Given the description of an element on the screen output the (x, y) to click on. 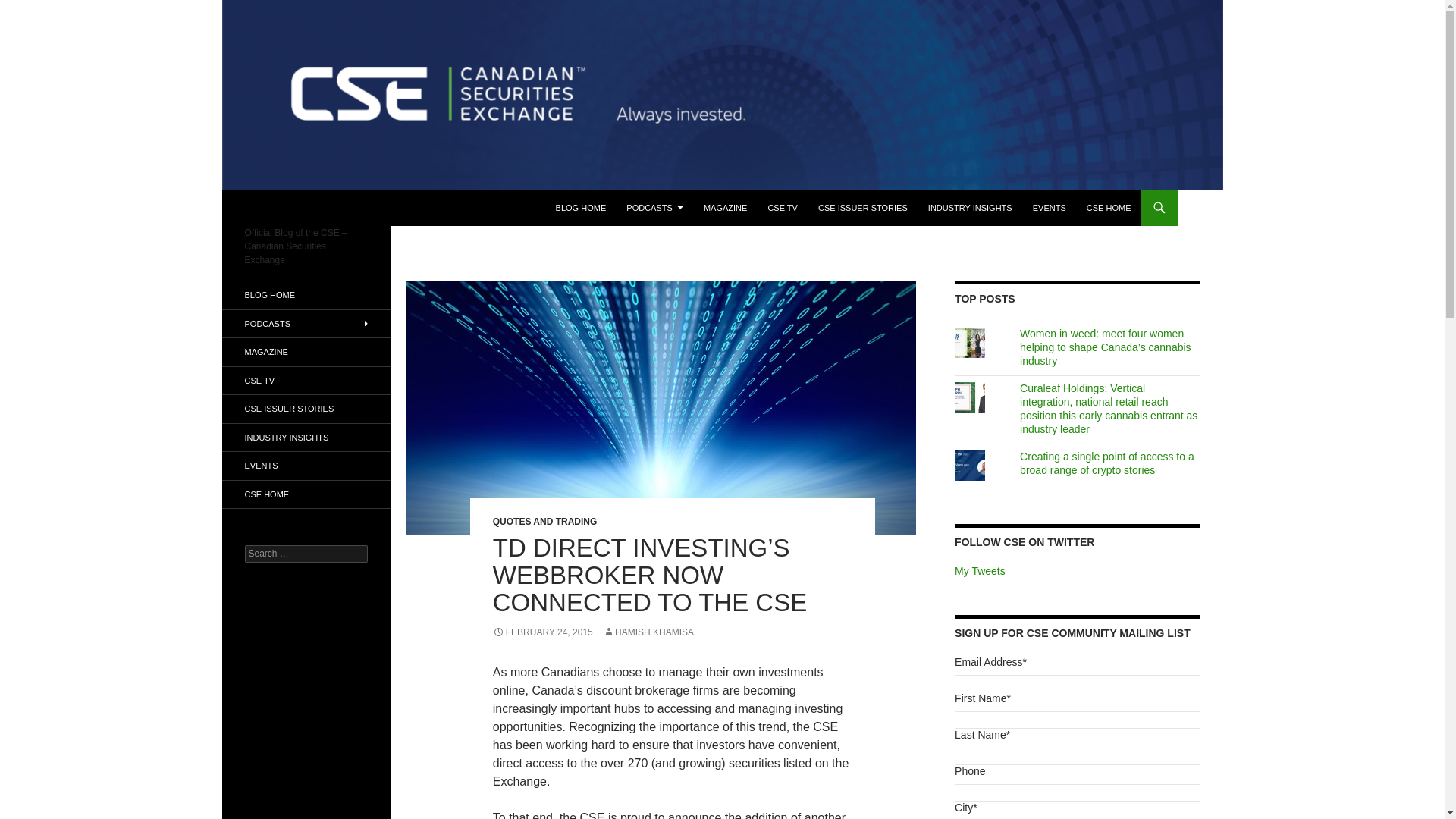
My Tweets (980, 571)
QUOTES AND TRADING (544, 521)
INDUSTRY INSIGHTS (970, 207)
FEBRUARY 24, 2015 (542, 632)
HAMISH KHAMISA (648, 632)
CSE TV (782, 207)
CSE HOME (1108, 207)
BLOG HOME (581, 207)
MAGAZINE (724, 207)
PODCASTS (655, 207)
